Given the description of an element on the screen output the (x, y) to click on. 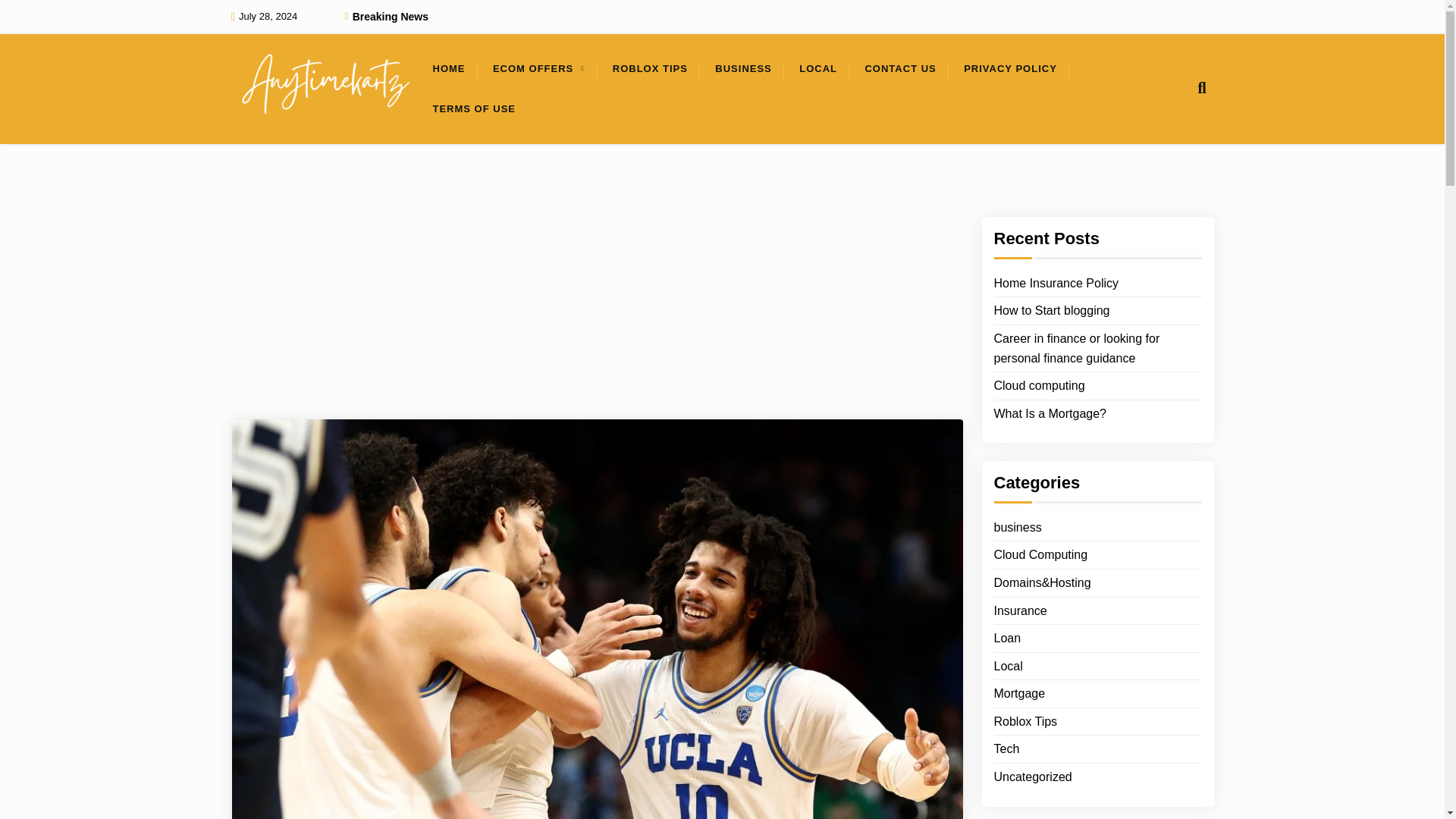
BUSINESS (743, 69)
ECOM OFFERS (532, 69)
Career in finance or looking for personal finance guidance (1096, 348)
Cloud computing (1038, 385)
TERMS OF USE (473, 109)
How to Start blogging (1050, 311)
PRIVACY POLICY (1010, 69)
CONTACT US (899, 69)
LOCAL (817, 69)
ROBLOX TIPS (649, 69)
What Is a Mortgage? (1049, 414)
Home Insurance Policy (1055, 283)
HOME (448, 69)
business (1016, 527)
